Given the description of an element on the screen output the (x, y) to click on. 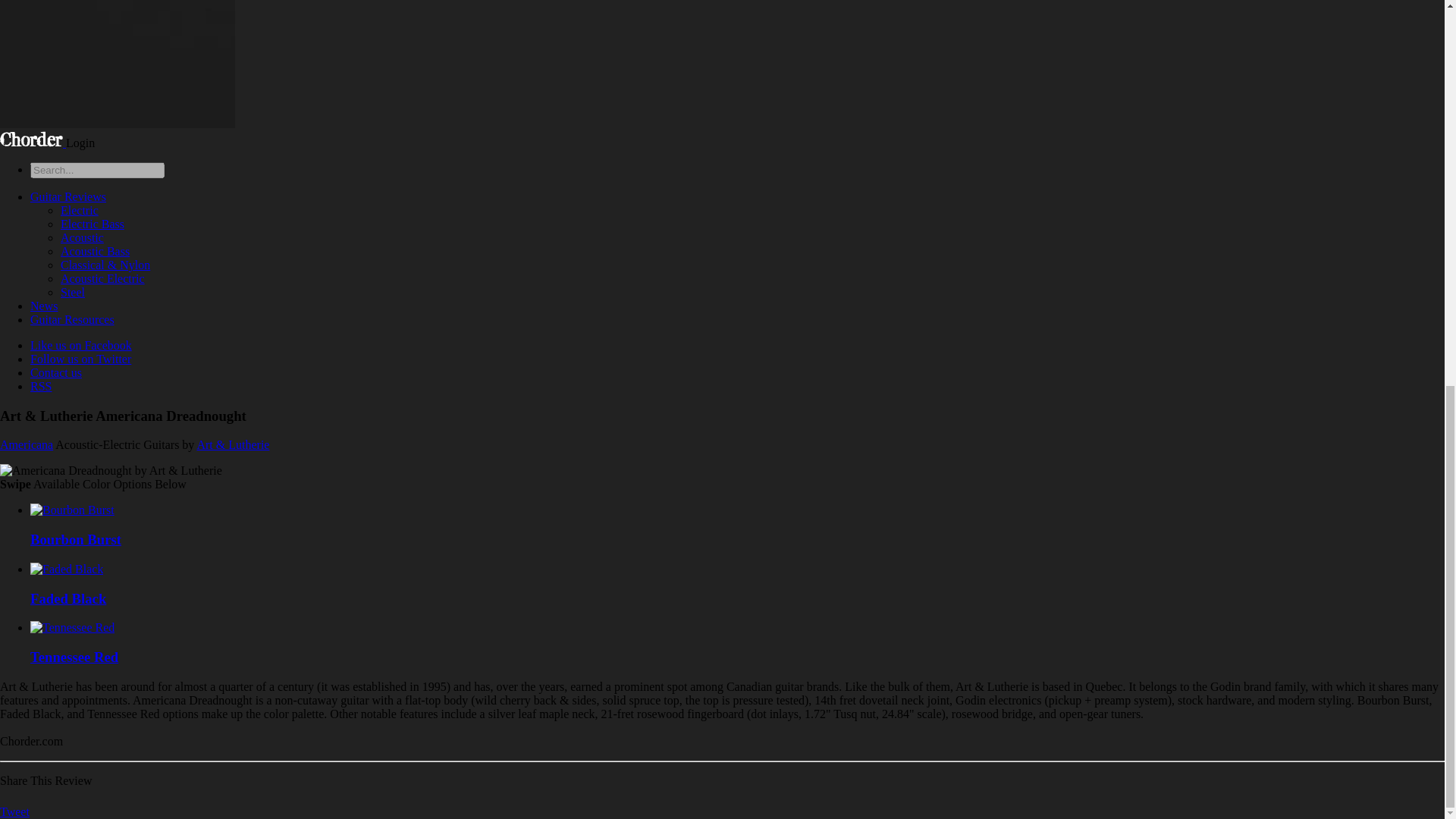
Electric Bass (92, 223)
Acoustic (82, 237)
Acoustic Bass (95, 250)
Steel (72, 291)
Acoustic Electric (102, 278)
Login (79, 142)
Electric (80, 210)
Americana (26, 444)
Tweet (14, 811)
